Given the description of an element on the screen output the (x, y) to click on. 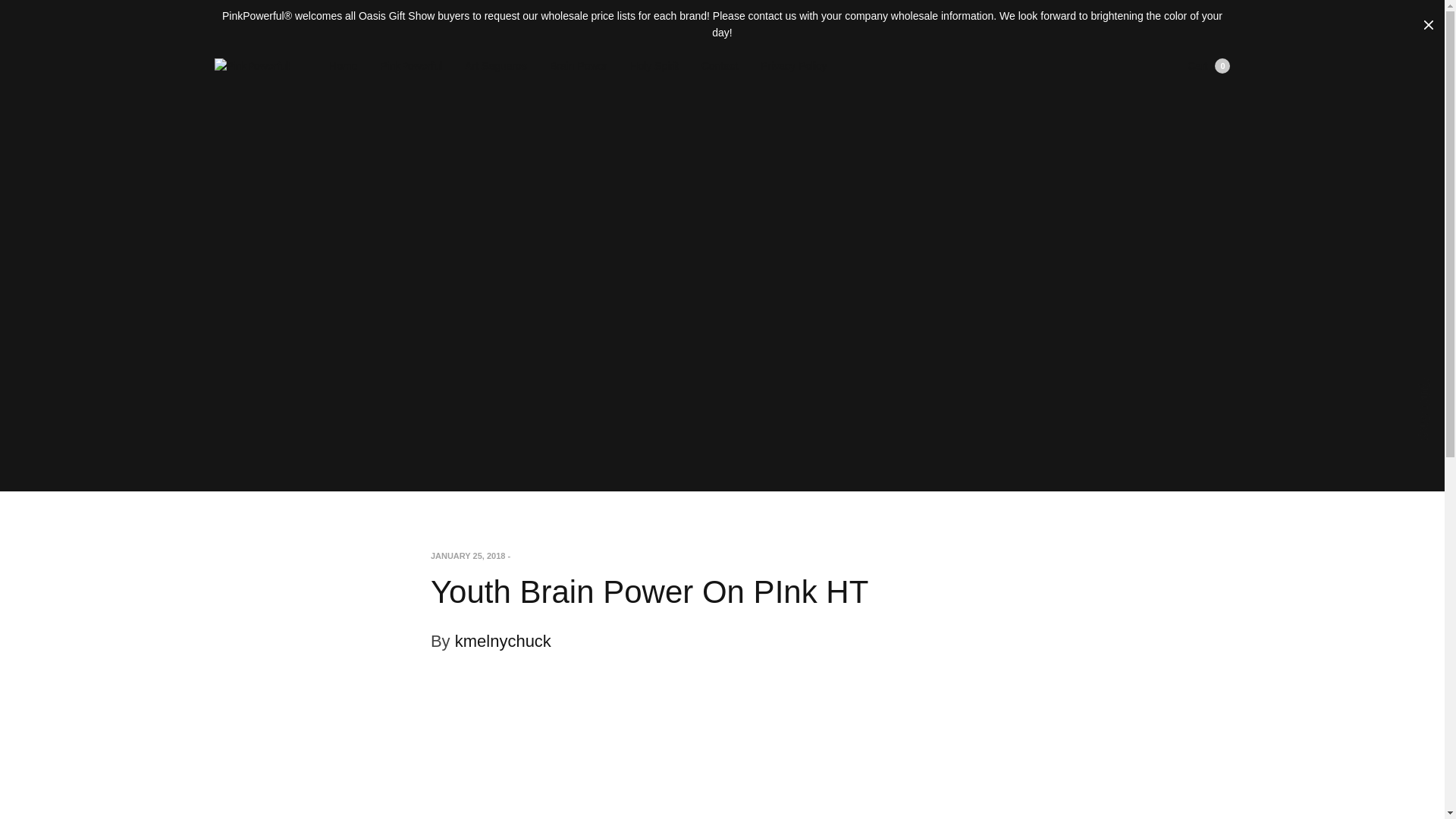
Holy Spirit (654, 65)
Brain Power (578, 65)
Posts by kmelnychuck (1209, 65)
kmelnychuck (502, 640)
Cart (502, 640)
Art Saguaros (1209, 65)
Contact (495, 65)
Privacy Policy (719, 65)
Youth Brain Power On PInk HT (793, 65)
